Given the description of an element on the screen output the (x, y) to click on. 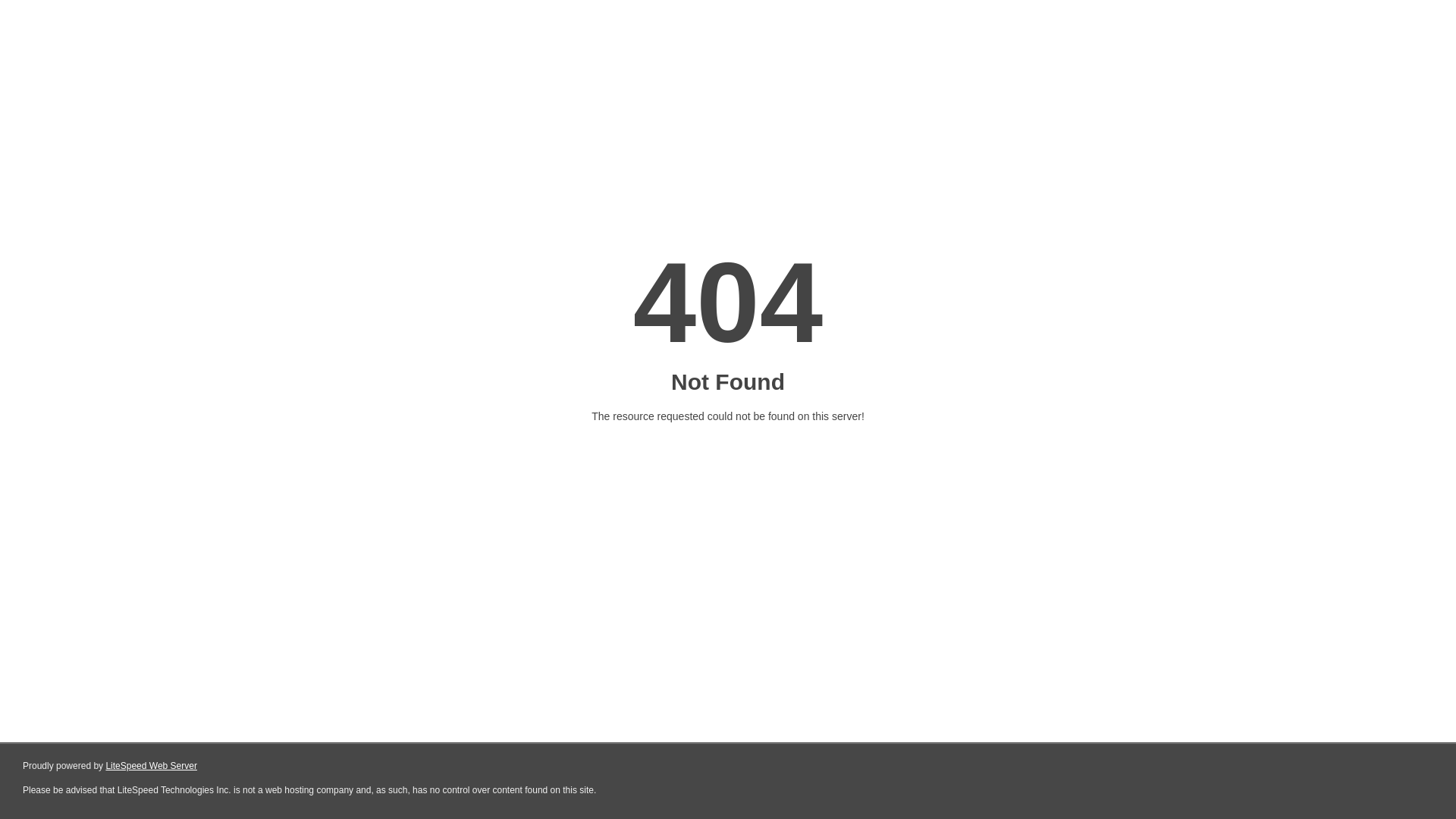
LiteSpeed Web Server Element type: text (151, 765)
